Given the description of an element on the screen output the (x, y) to click on. 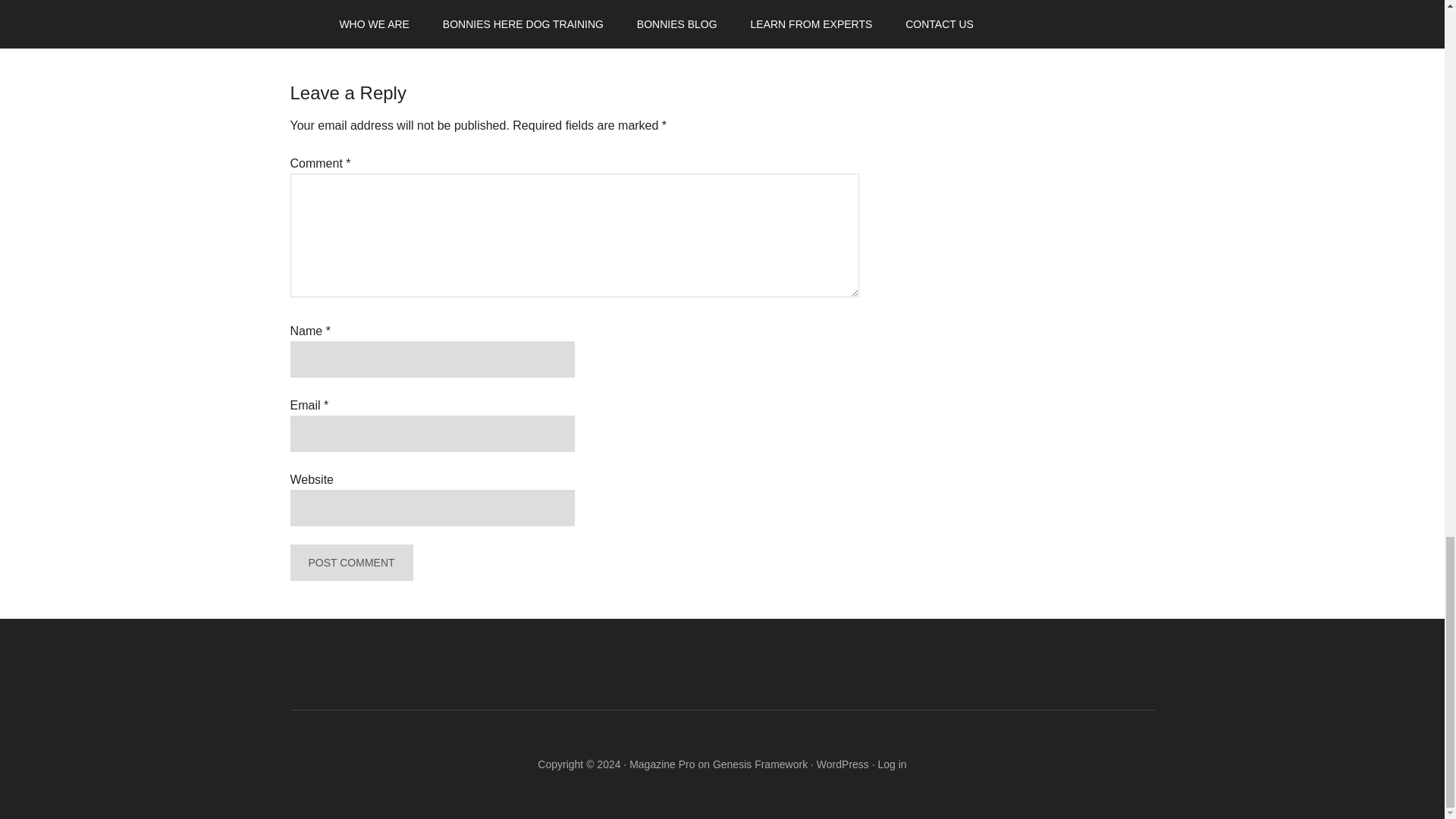
Post Comment (350, 562)
Magazine Pro (661, 764)
Genesis Framework (760, 764)
WordPress (842, 764)
Miscellaneous (384, 9)
Post Comment (350, 562)
